Given the description of an element on the screen output the (x, y) to click on. 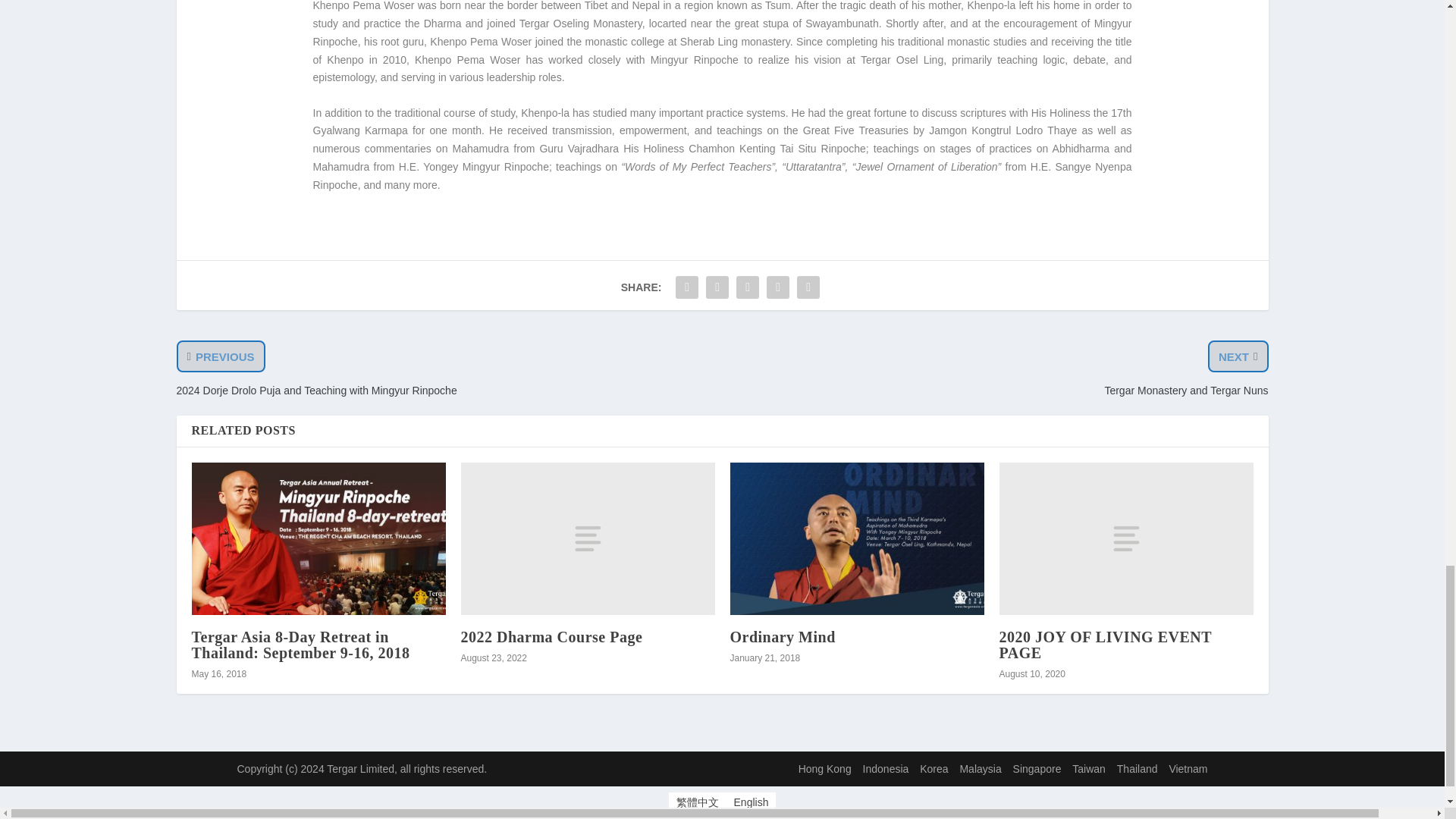
Ordinary Mind (781, 636)
2020 JOY OF LIVING EVENT PAGE (1125, 538)
Tergar Asia 8-Day Retreat in Thailand: September 9-16, 2018 (317, 538)
Tergar Asia 8-Day Retreat in Thailand: September 9-16, 2018 (299, 644)
2022 Dharma Course Page  (553, 636)
Ordinary Mind (856, 538)
